Given the description of an element on the screen output the (x, y) to click on. 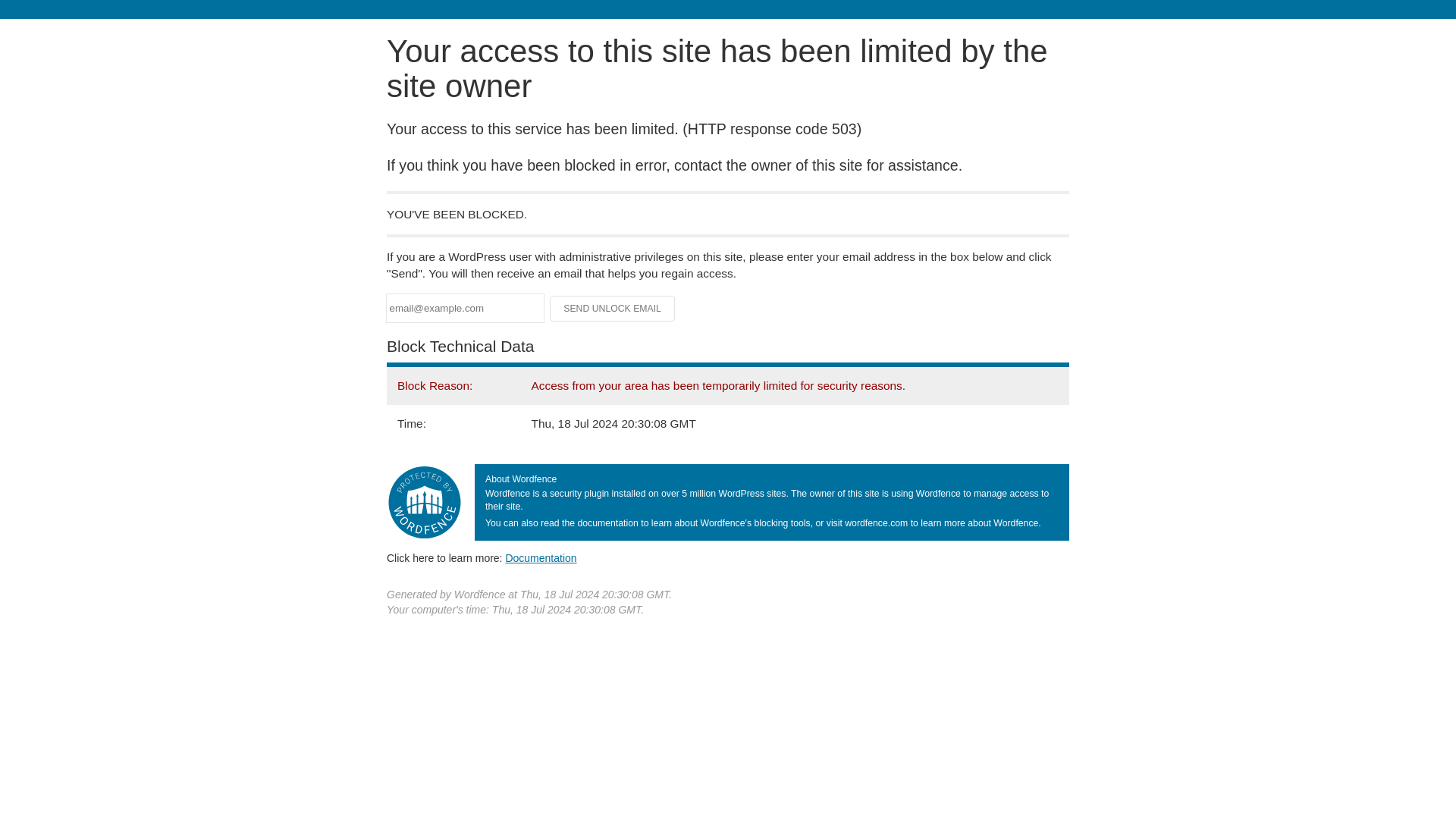
Send Unlock Email (612, 308)
Documentation (540, 558)
Send Unlock Email (612, 308)
